Given the description of an element on the screen output the (x, y) to click on. 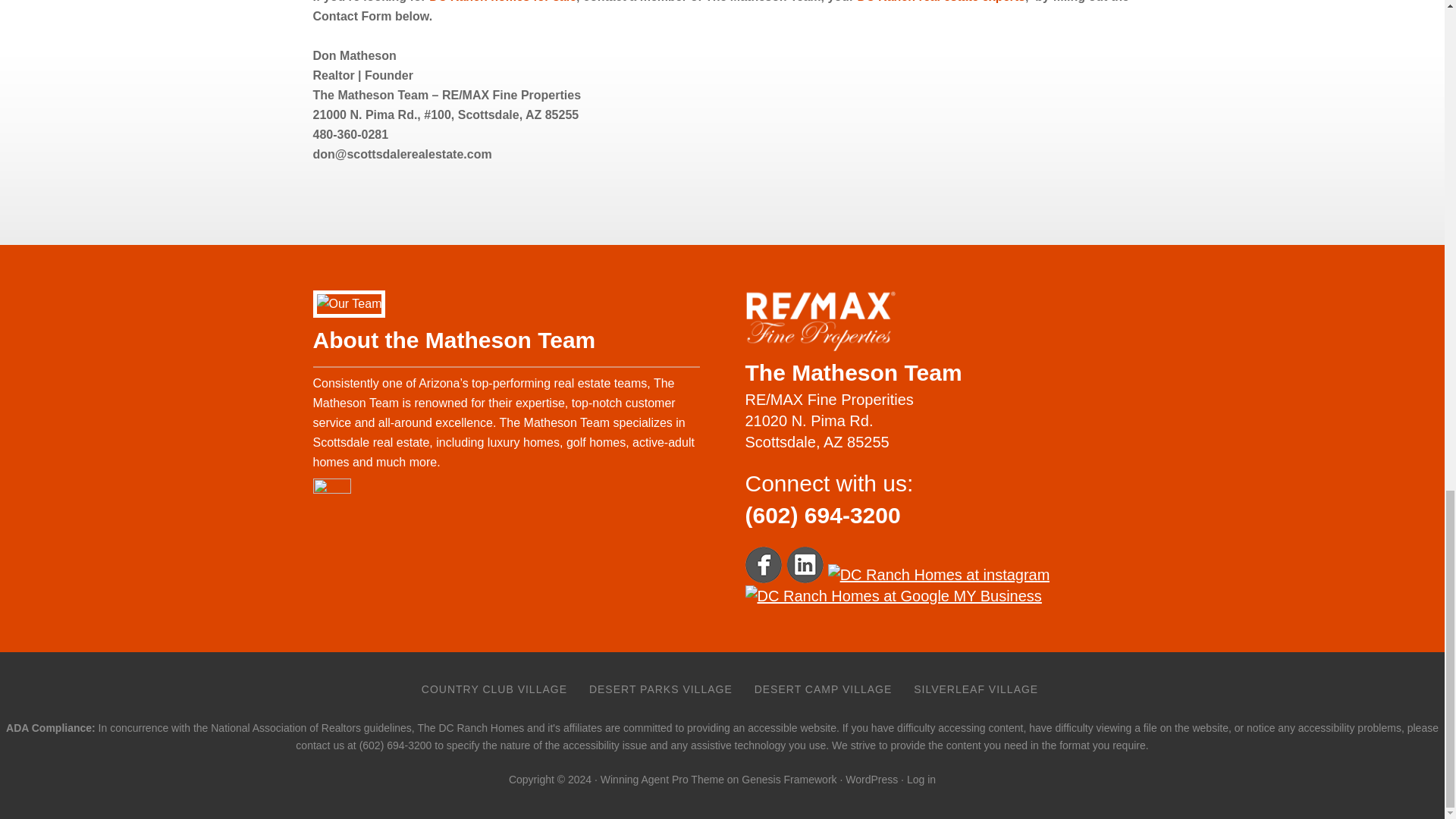
Genesis Framework (788, 779)
DC Ranch homes for sale (502, 1)
Winning Agent Pro Theme (661, 779)
DC Ranch real estate experts (941, 1)
DESERT CAMP VILLAGE (823, 689)
WordPress (871, 779)
Log in (921, 779)
About (941, 1)
COUNTRY CLUB VILLAGE (494, 689)
DESERT PARKS VILLAGE (660, 689)
